Given the description of an element on the screen output the (x, y) to click on. 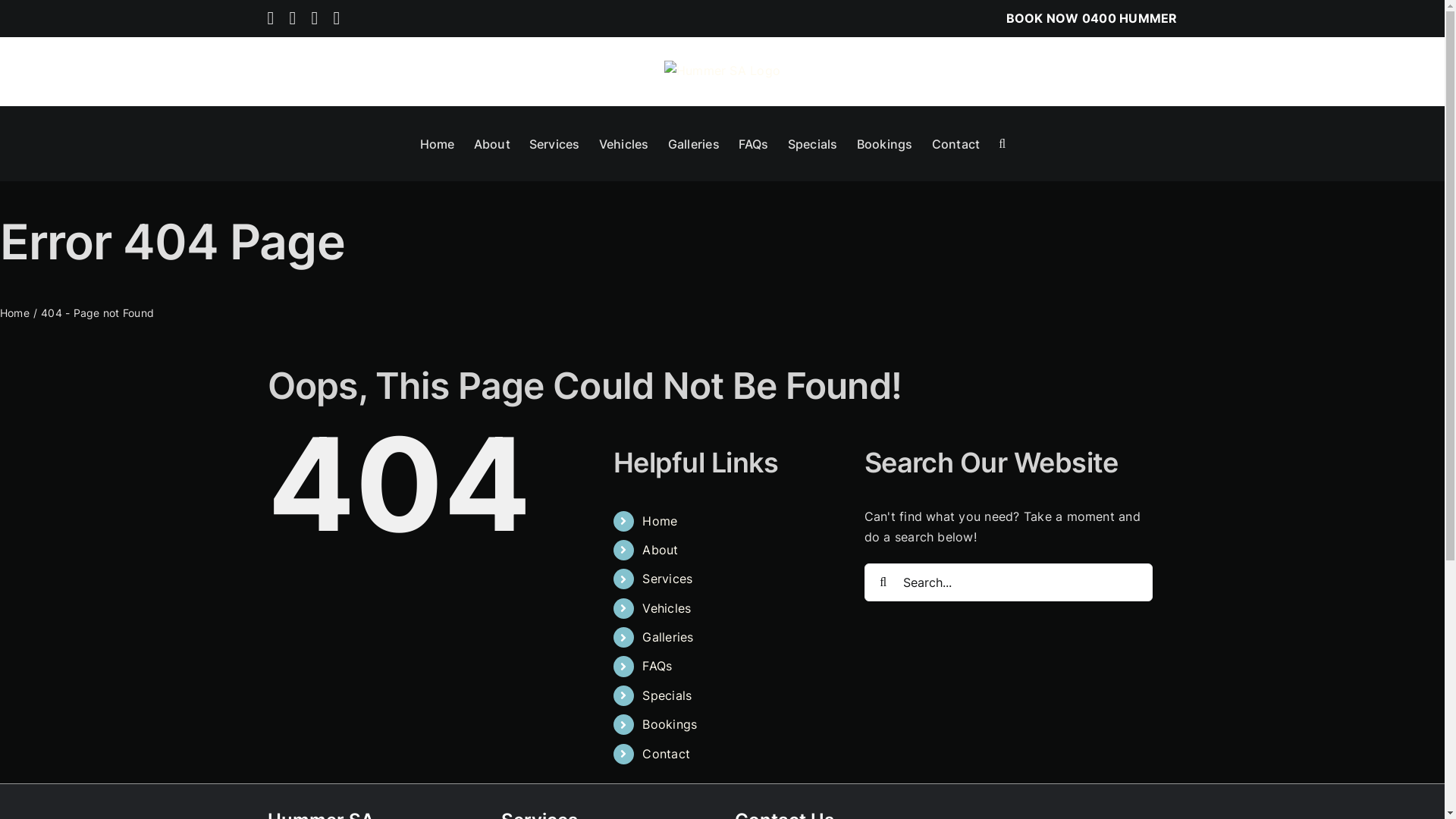
Contact Element type: text (666, 753)
Facebook Element type: text (314, 18)
Specials Element type: text (812, 143)
About Element type: text (491, 143)
Home Element type: text (659, 520)
FAQs Element type: text (753, 143)
Tiktok Element type: text (292, 18)
Galleries Element type: text (667, 636)
Search Element type: hover (1001, 143)
About Element type: text (659, 549)
Vehicles Element type: text (666, 607)
Specials Element type: text (666, 694)
Home Element type: text (437, 143)
Contact Element type: text (955, 143)
Services Element type: text (554, 143)
FAQs Element type: text (656, 665)
Services Element type: text (667, 578)
Twitter Element type: text (336, 18)
Galleries Element type: text (693, 143)
Bookings Element type: text (884, 143)
0400 HUMMER Element type: text (1129, 17)
Vehicles Element type: text (624, 143)
Instagram Element type: text (269, 18)
Bookings Element type: text (669, 723)
Home Element type: text (14, 312)
